Given the description of an element on the screen output the (x, y) to click on. 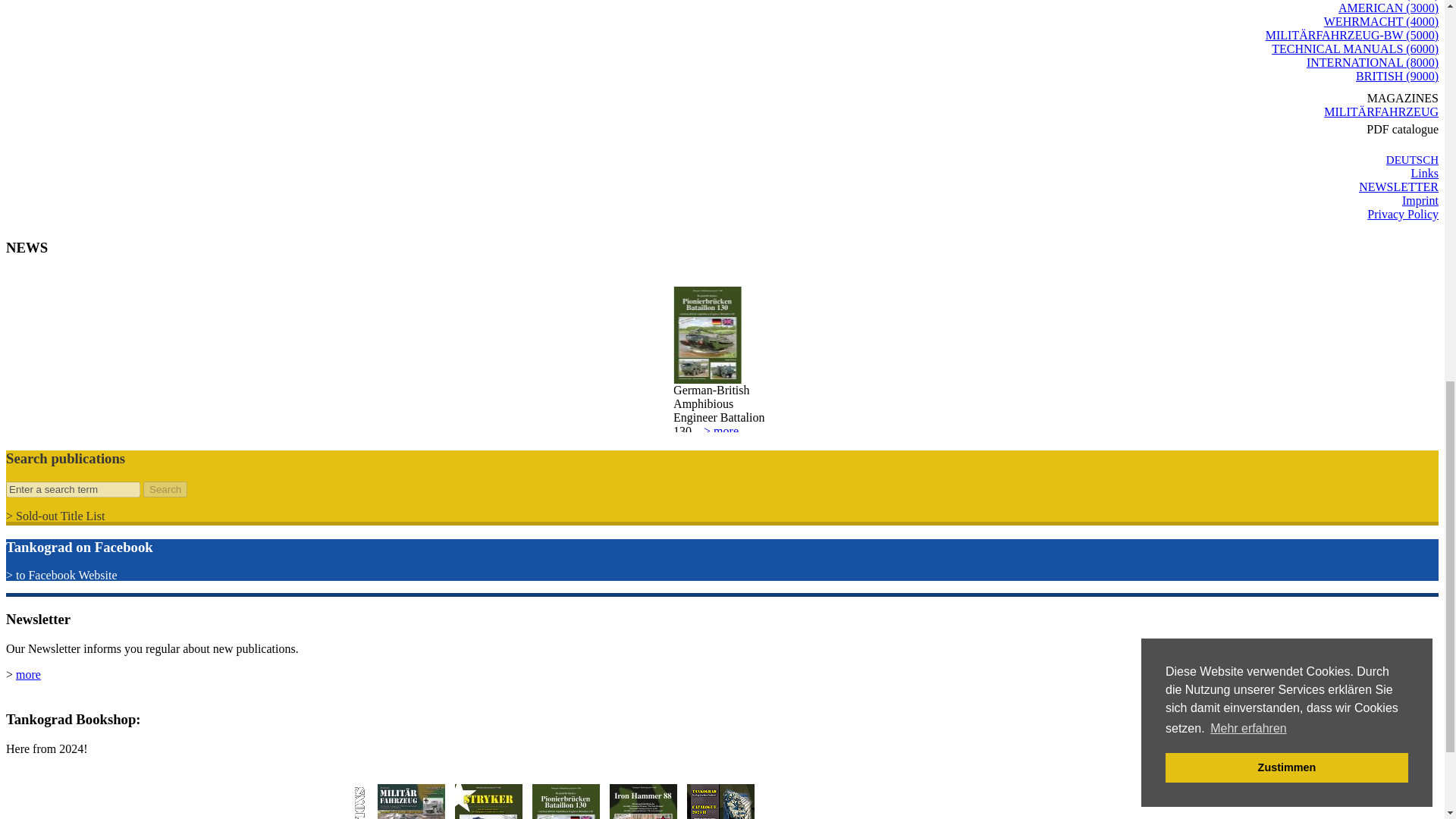
Search (164, 489)
Catalogue 2020 (720, 801)
Enter a search term (72, 489)
